Given the description of an element on the screen output the (x, y) to click on. 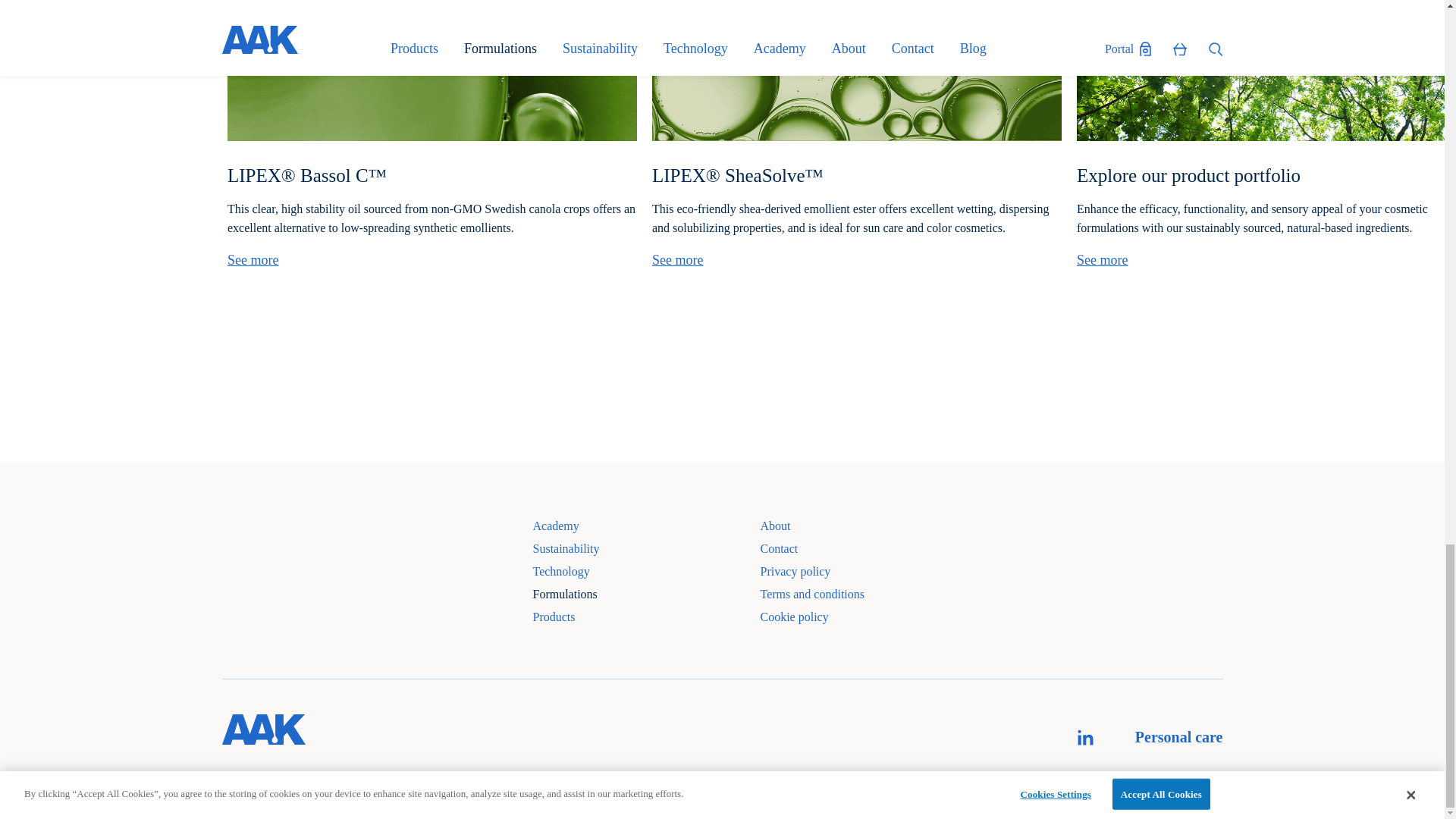
About (828, 530)
Sustainability (646, 553)
Products (646, 621)
Privacy policy (828, 576)
Contact (828, 553)
Terms and conditions (828, 599)
Academy (646, 530)
Technology (646, 576)
Formulations (646, 599)
